Given the description of an element on the screen output the (x, y) to click on. 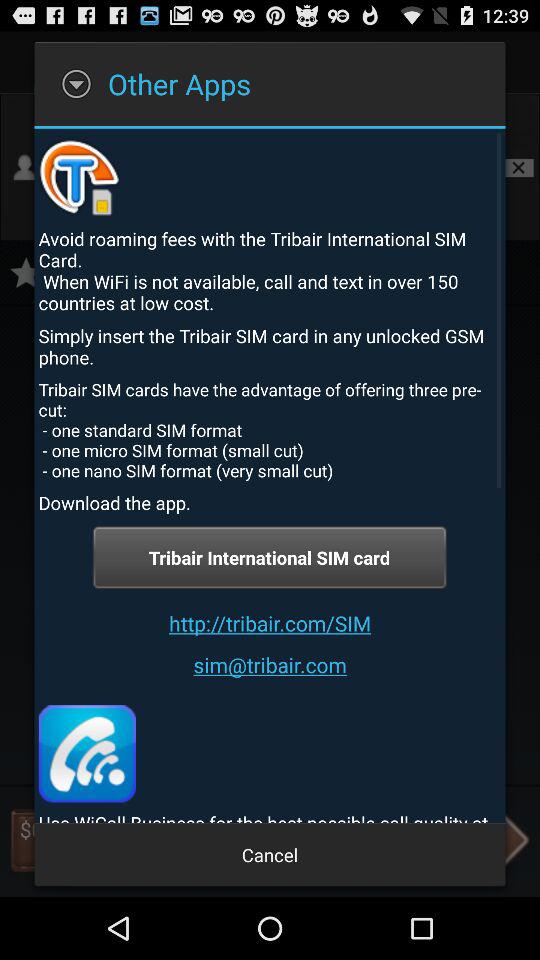
select item below the tribair international sim button (269, 622)
